Given the description of an element on the screen output the (x, y) to click on. 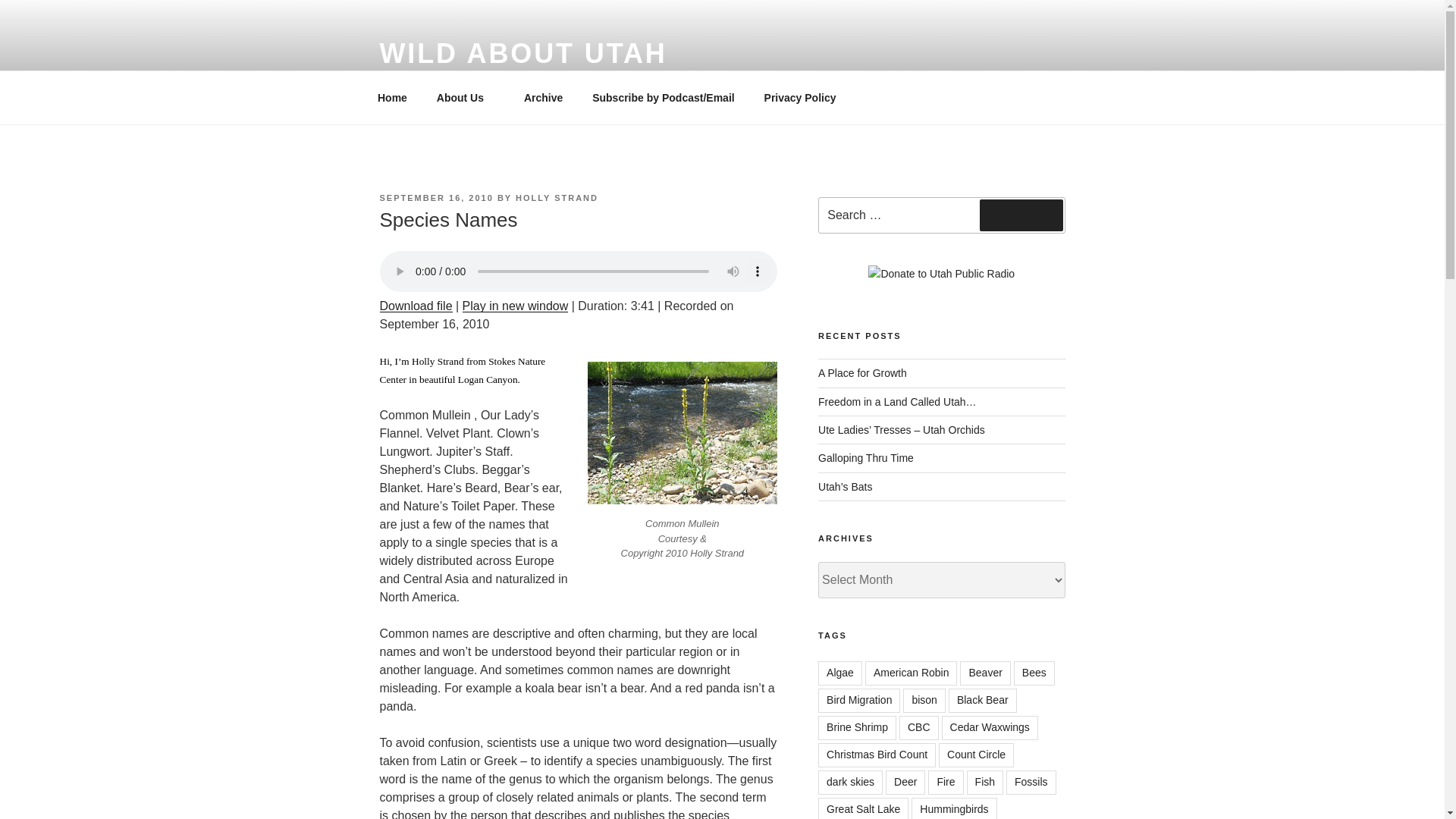
Archive (543, 97)
HOLLY STRAND (556, 197)
Play in new window (516, 305)
About Us (464, 97)
Search (1020, 214)
WILD ABOUT UTAH (522, 52)
Home (392, 97)
Galloping Thru Time (866, 458)
Download file (414, 305)
SEPTEMBER 16, 2010 (435, 197)
